Given the description of an element on the screen output the (x, y) to click on. 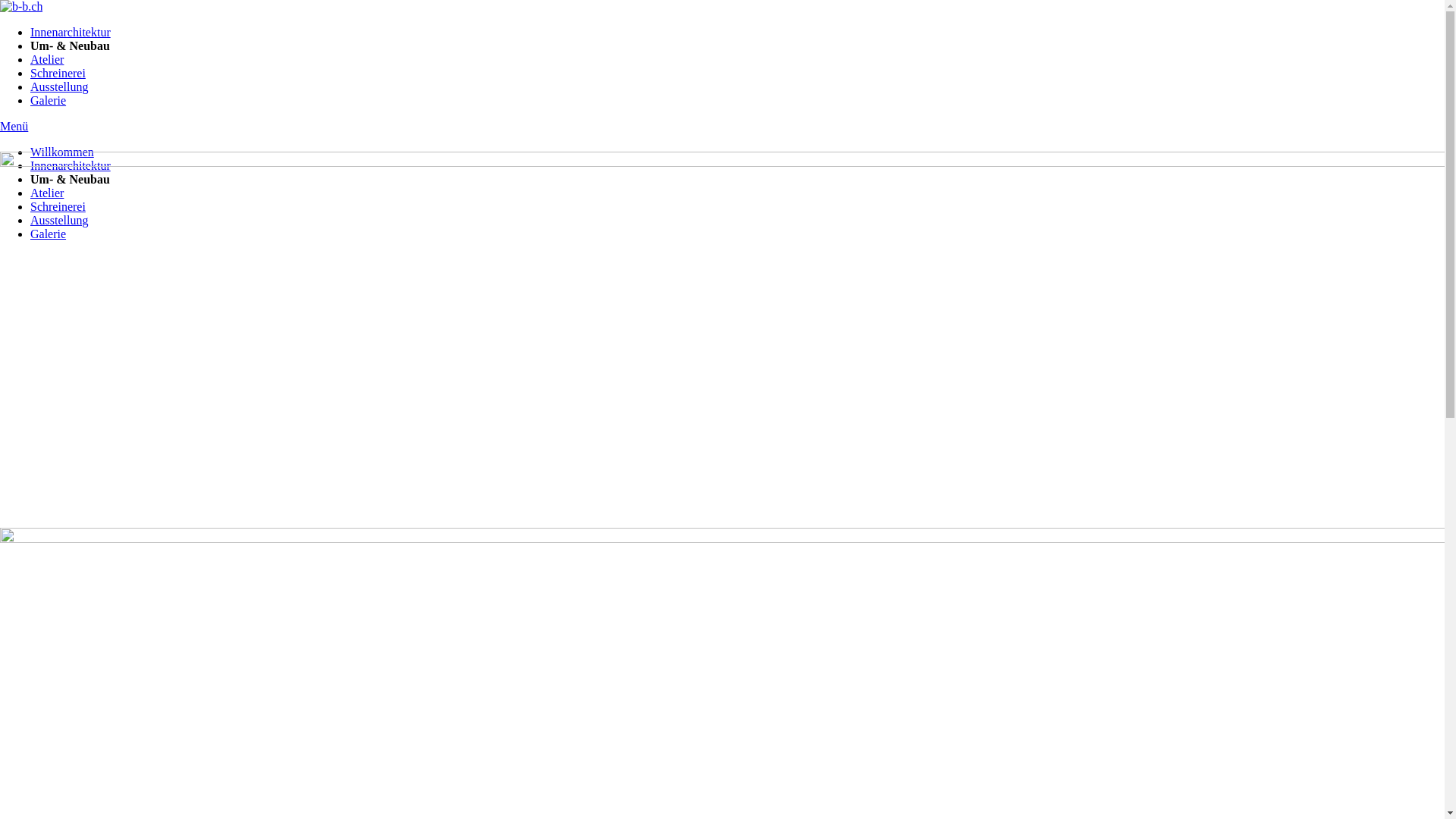
Galerie Element type: text (47, 100)
Schreinerei Element type: text (57, 72)
Innenarchitektur Element type: text (70, 31)
Ausstellung Element type: text (58, 86)
Ausstellung Element type: text (58, 219)
Galerie Element type: text (47, 233)
Willkommen Element type: text (62, 151)
Innenarchitektur Element type: text (70, 165)
Atelier Element type: text (46, 192)
Schreinerei Element type: text (57, 206)
startseite b-b.ch Element type: hover (21, 6)
Atelier Element type: text (46, 59)
